Given the description of an element on the screen output the (x, y) to click on. 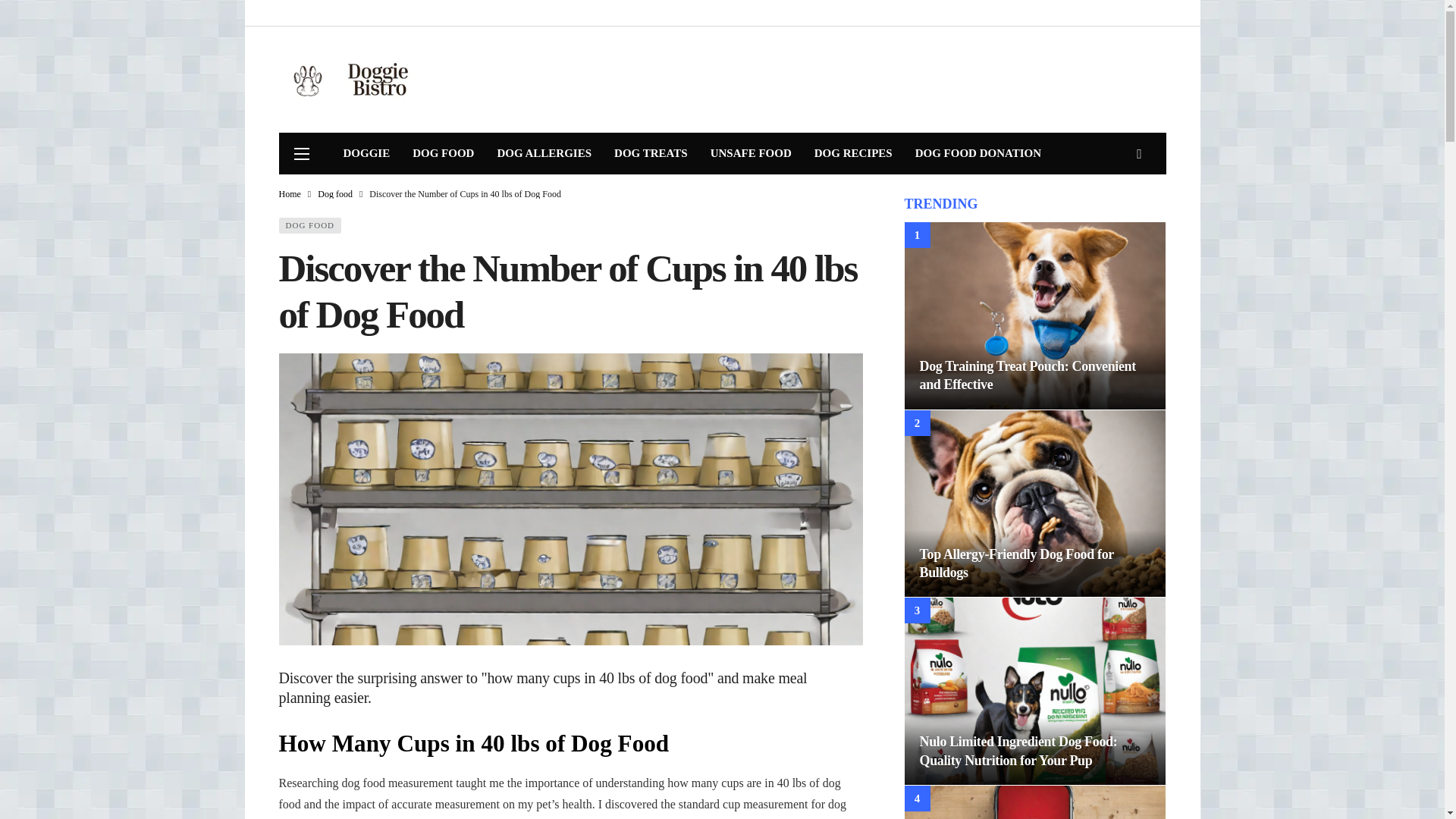
DOG FOOD DONATION (978, 153)
DOGGIE (366, 153)
Dog Training Treat Pouch: Convenient and Effective (1026, 375)
DOG TREATS (650, 153)
UNSAFE FOOD (750, 153)
DOG RECIPES (853, 153)
Top Allergy-Friendly Dog Food for Bulldogs (1015, 563)
Dog food (334, 194)
DOG ALLERGIES (543, 153)
DOG FOOD (310, 225)
DOG FOOD (442, 153)
Home (290, 194)
